Given the description of an element on the screen output the (x, y) to click on. 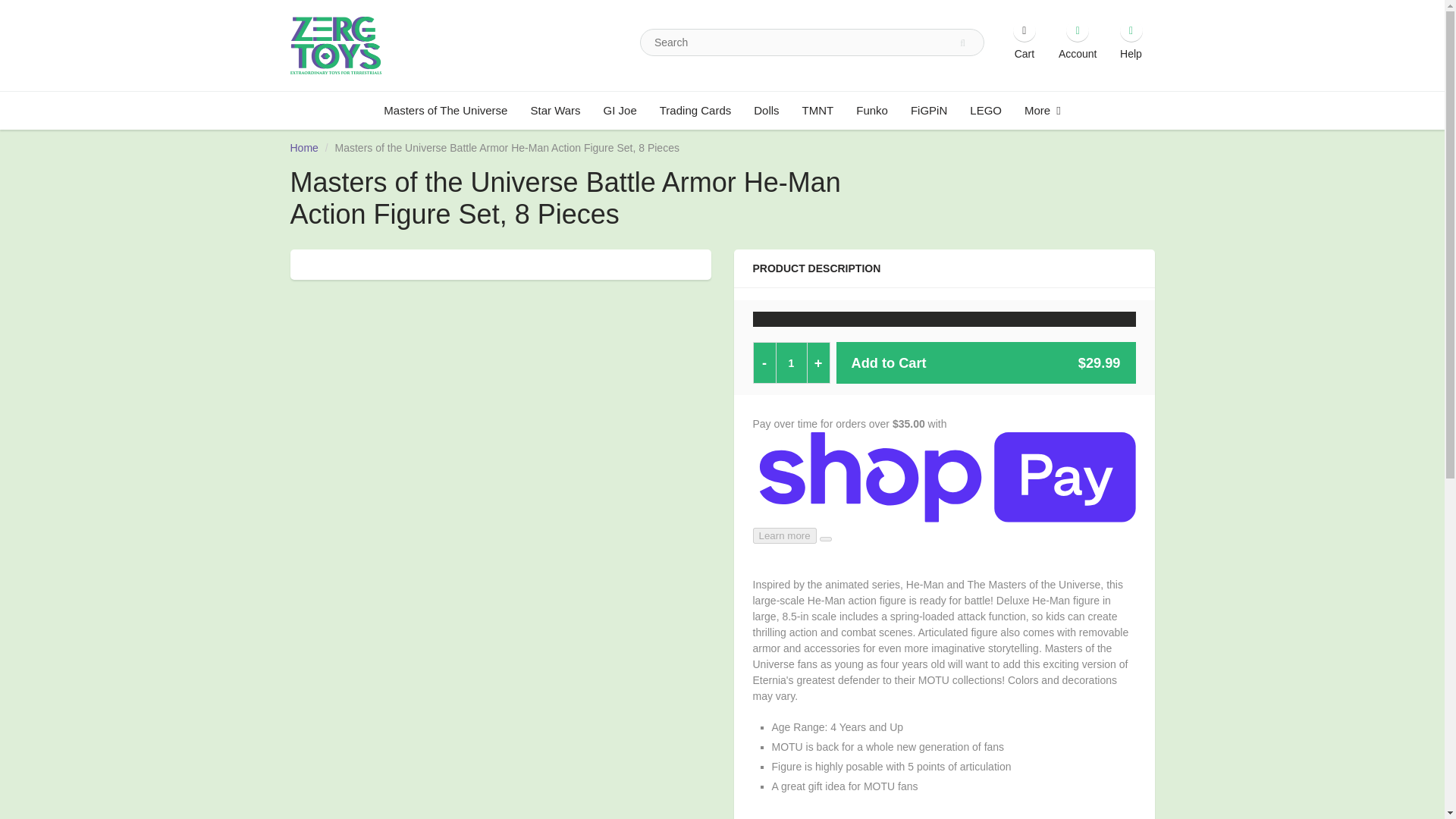
TMNT (817, 110)
FiGPiN (928, 110)
Funko (871, 110)
Star Wars (554, 110)
Home (303, 146)
Masters of The Universe (445, 110)
LEGO (985, 110)
More (1042, 110)
Trading Cards (694, 110)
Home (303, 146)
Dolls (766, 110)
GI Joe (619, 110)
